Given the description of an element on the screen output the (x, y) to click on. 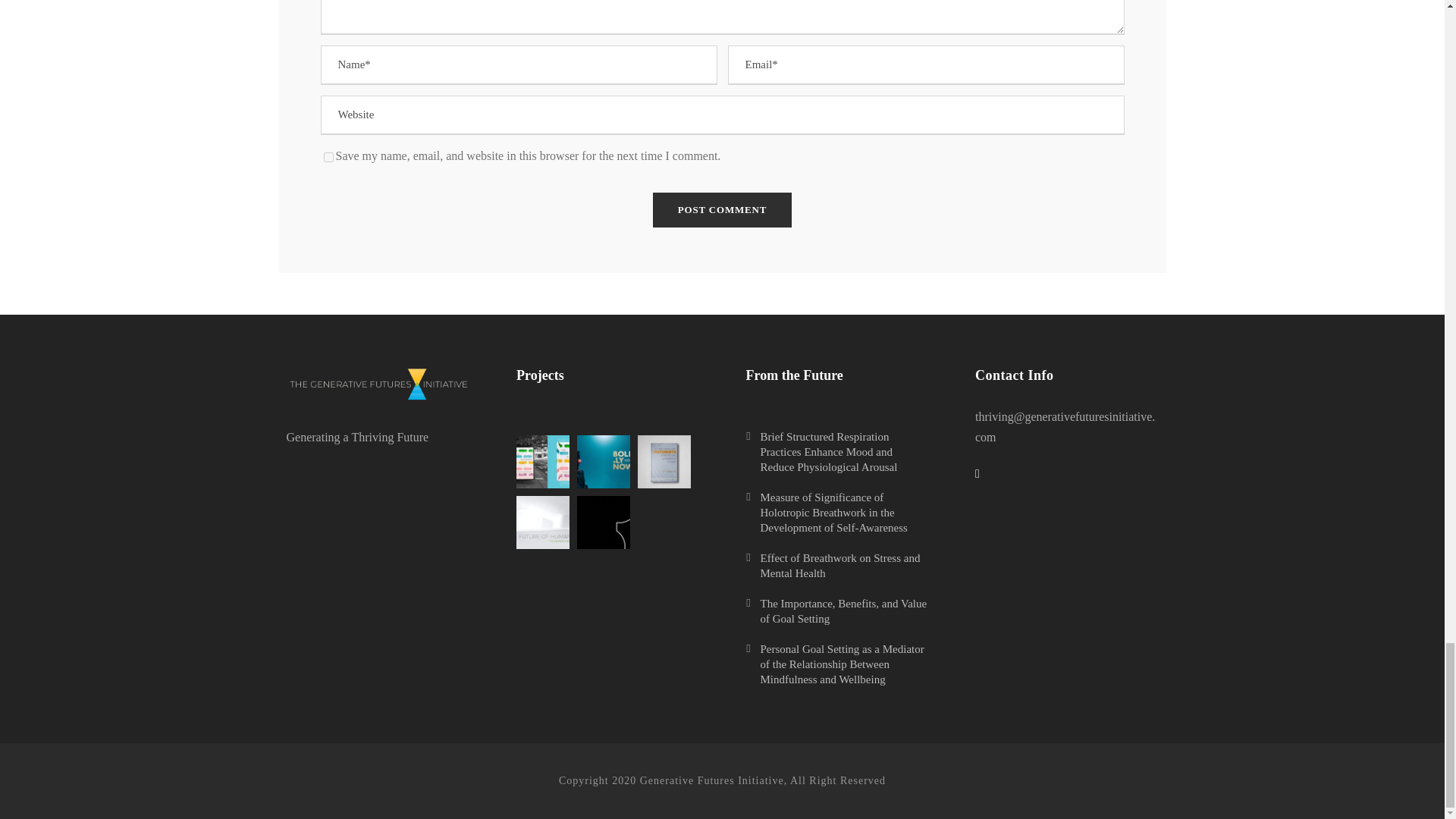
World Builders Games (542, 522)
FuturistsBOOK-v2 (663, 461)
Post Comment (722, 209)
boldlyNOW (603, 461)
yes (328, 157)
Agami (603, 522)
